Given the description of an element on the screen output the (x, y) to click on. 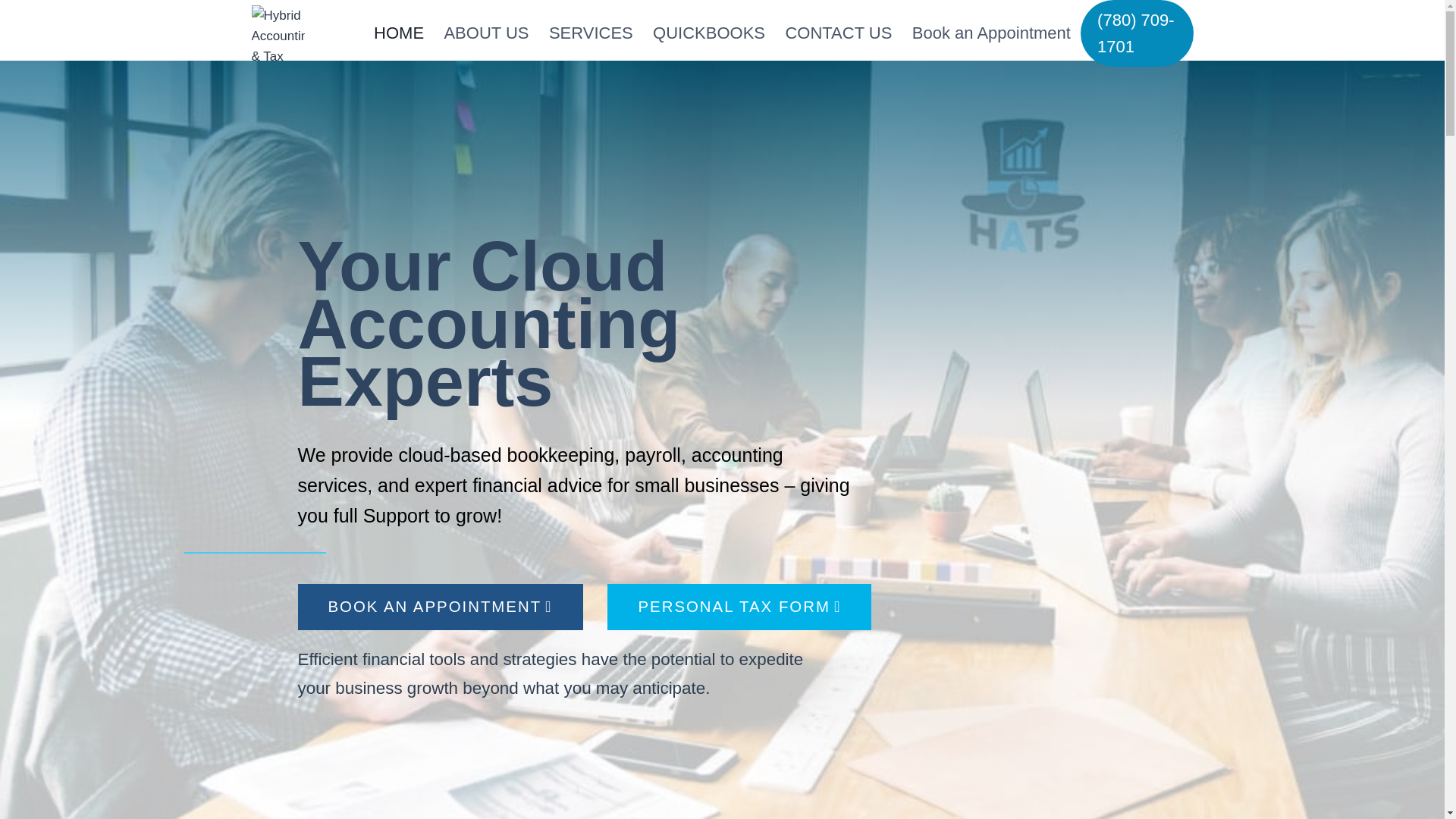
PERSONAL TAX FORM (738, 606)
Book an Appointment (991, 32)
HOME (398, 32)
SERVICES (590, 32)
BOOK AN APPOINTMENT (439, 606)
ABOUT US (485, 32)
CONTACT US (837, 32)
QUICKBOOKS (708, 32)
